Given the description of an element on the screen output the (x, y) to click on. 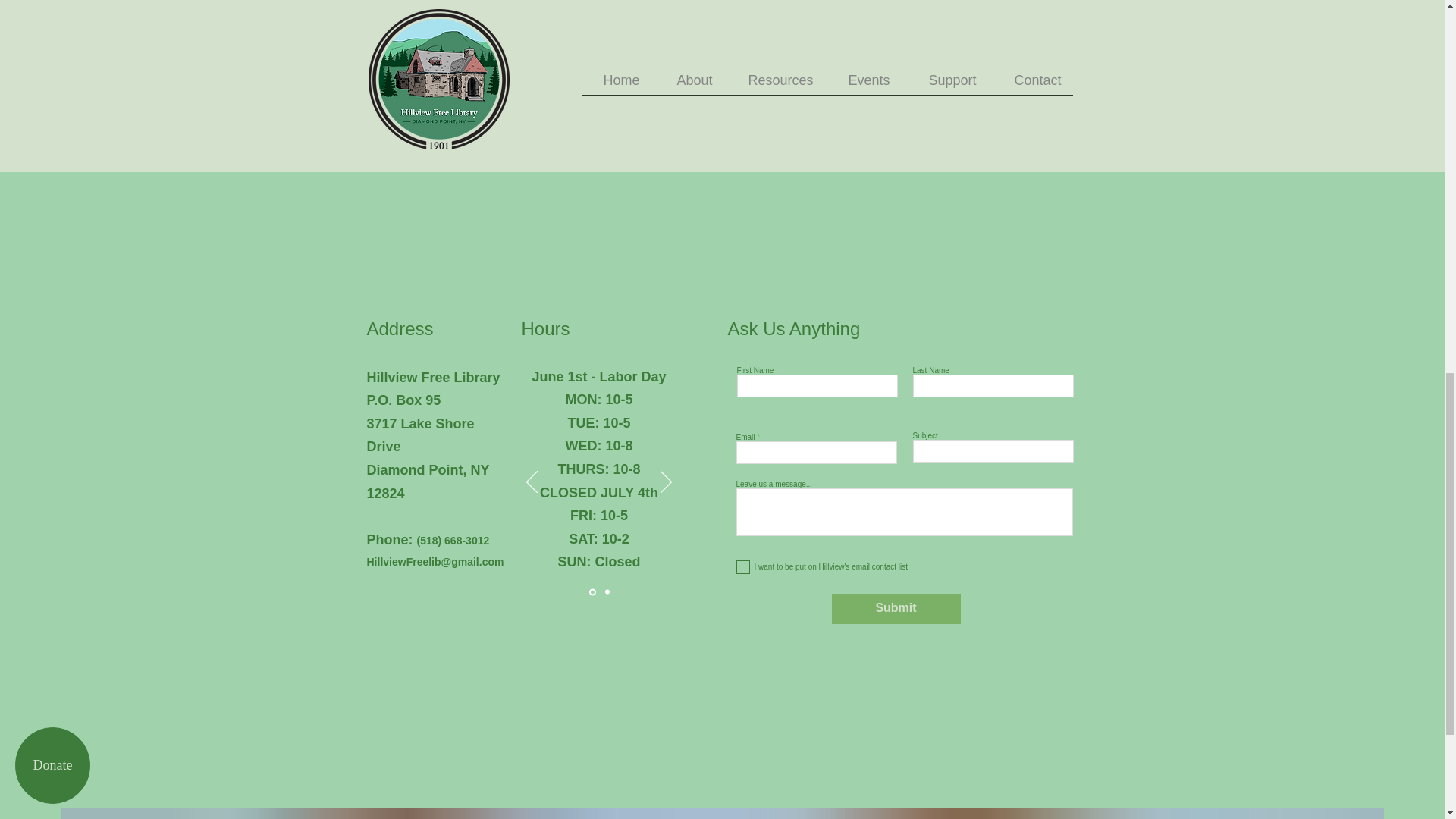
Submit (895, 608)
